Given the description of an element on the screen output the (x, y) to click on. 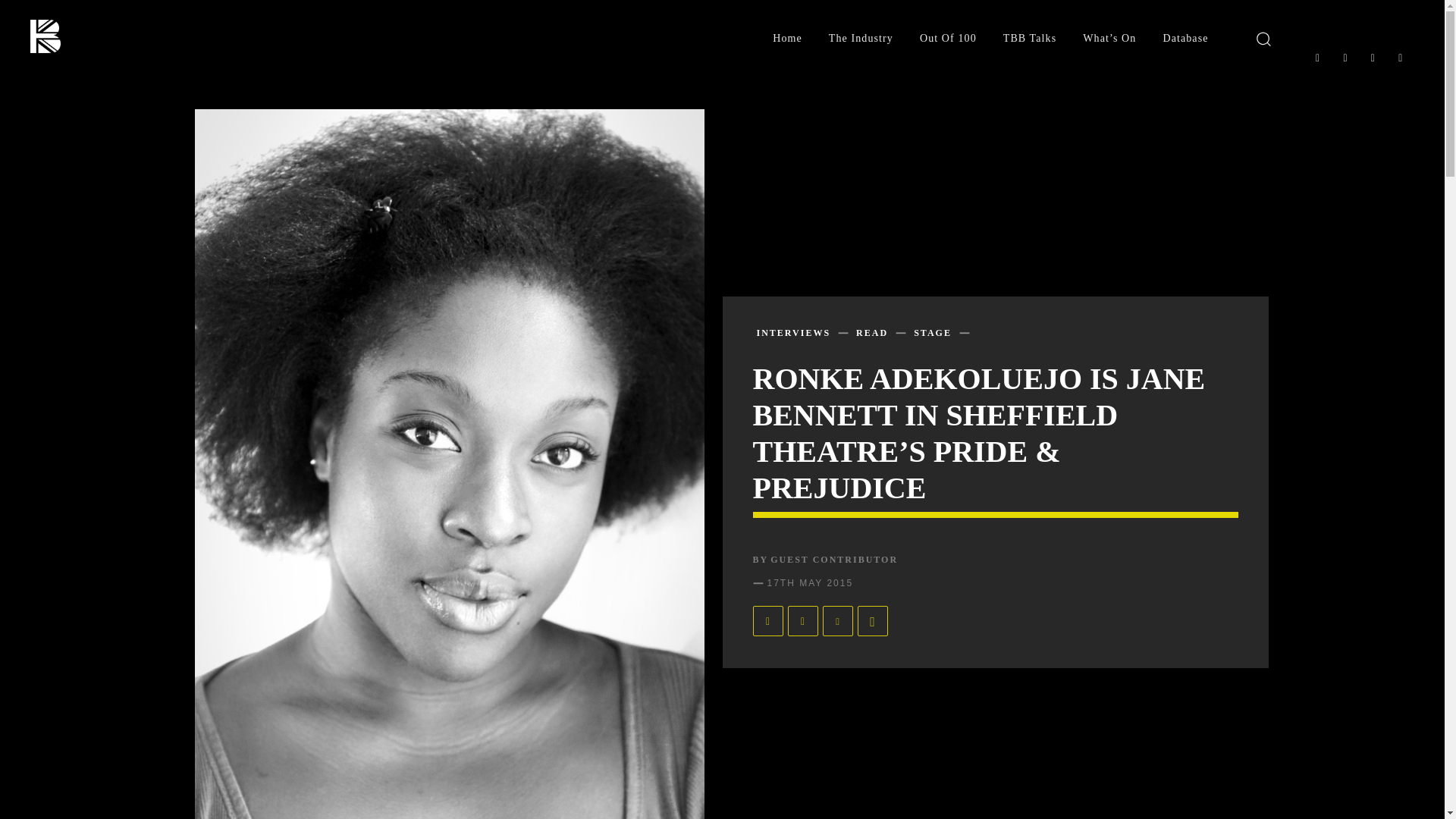
Instagram (1345, 57)
Youtube (1400, 57)
Facebook (1316, 57)
READ (872, 332)
The Industry (860, 38)
INTERVIEWS (794, 332)
Twitter (1372, 57)
